Given the description of an element on the screen output the (x, y) to click on. 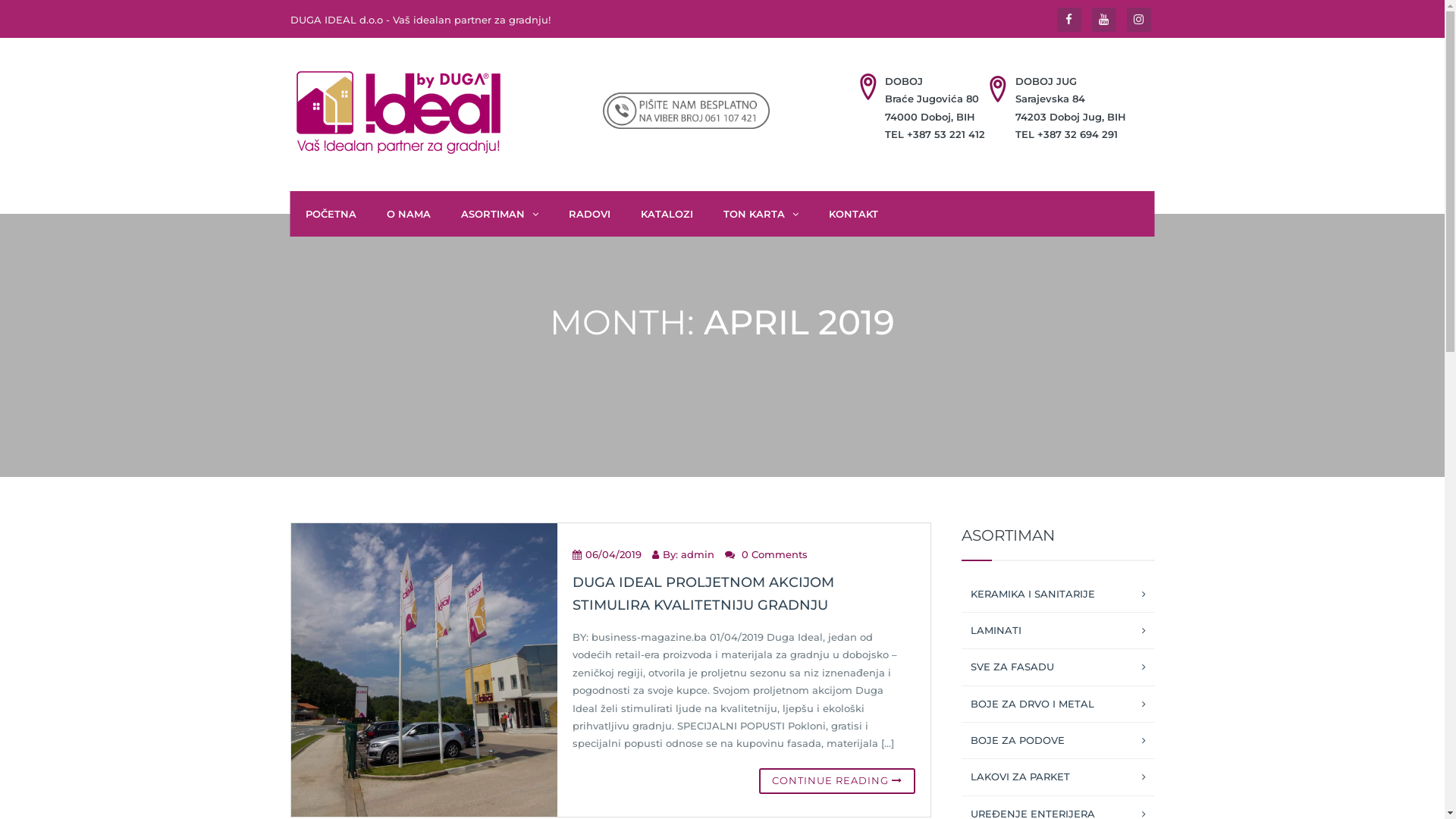
LAKOVI ZA PARKET Element type: text (1057, 776)
O NAMA Element type: text (408, 213)
DUGA IDEAL PROLJETNOM AKCIJOM STIMULIRA KVALITETNIJU GRADNJU Element type: text (703, 594)
BOJE ZA DRVO I METAL Element type: text (1057, 703)
KERAMIKA I SANITARIJE Element type: text (1057, 593)
ASORTIMAN Element type: text (499, 213)
TON KARTA Element type: text (760, 213)
BOJE ZA PODOVE Element type: text (1057, 740)
RADOVI Element type: text (589, 213)
LAMINATI Element type: text (1057, 630)
KONTAKT Element type: text (852, 213)
KATALOZI Element type: text (665, 213)
CONTINUE READING Element type: text (836, 780)
SVE ZA FASADU Element type: text (1057, 666)
